Given the description of an element on the screen output the (x, y) to click on. 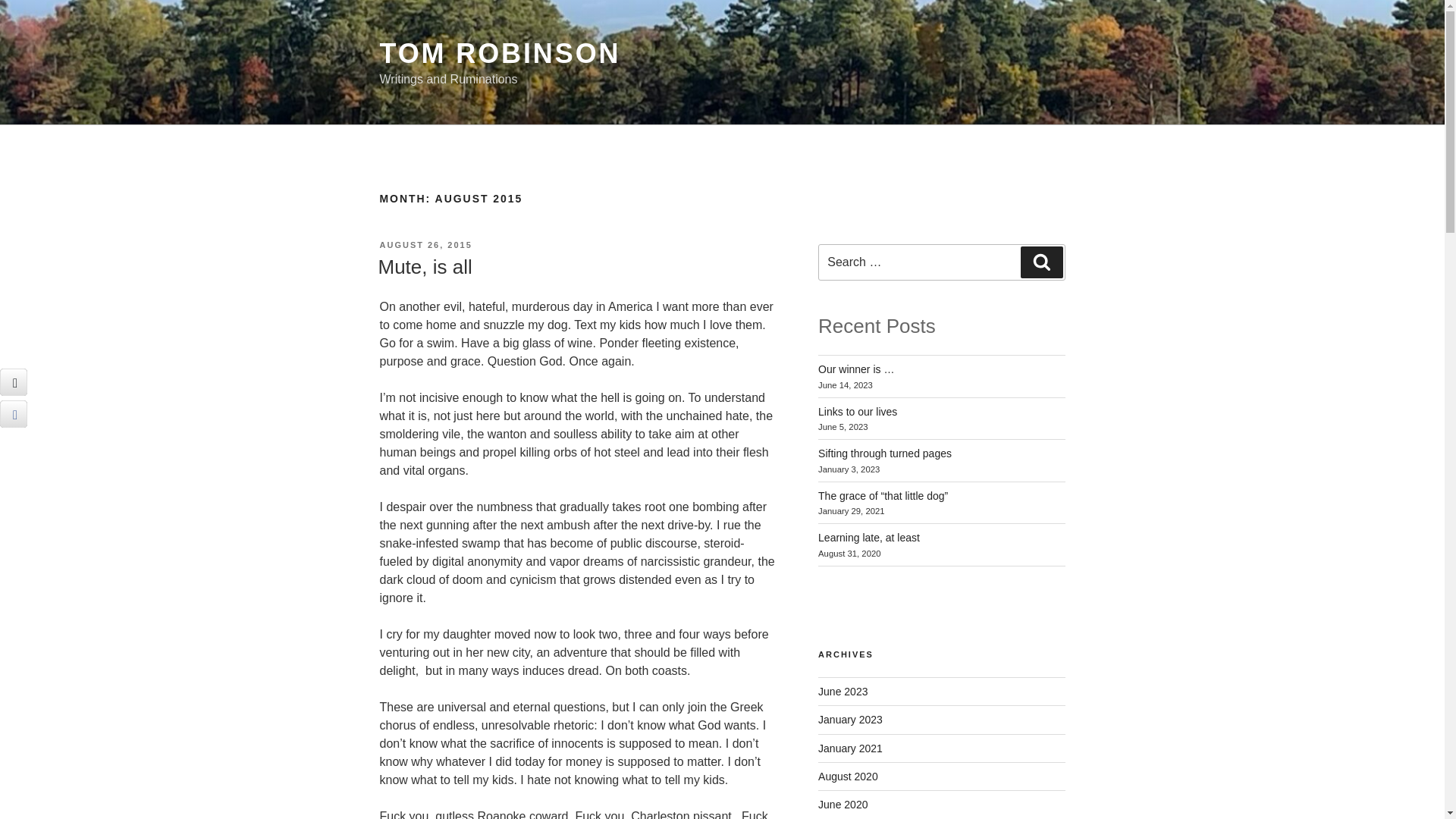
Sifting through turned pages (885, 453)
Learning late, at least (869, 537)
August 2020 (847, 776)
Search (1041, 262)
Links to our lives (857, 411)
January 2023 (850, 719)
June 2020 (842, 804)
Mute, is all (424, 266)
January 2021 (850, 748)
TOM ROBINSON (499, 52)
June 2023 (842, 691)
AUGUST 26, 2015 (424, 244)
